Given the description of an element on the screen output the (x, y) to click on. 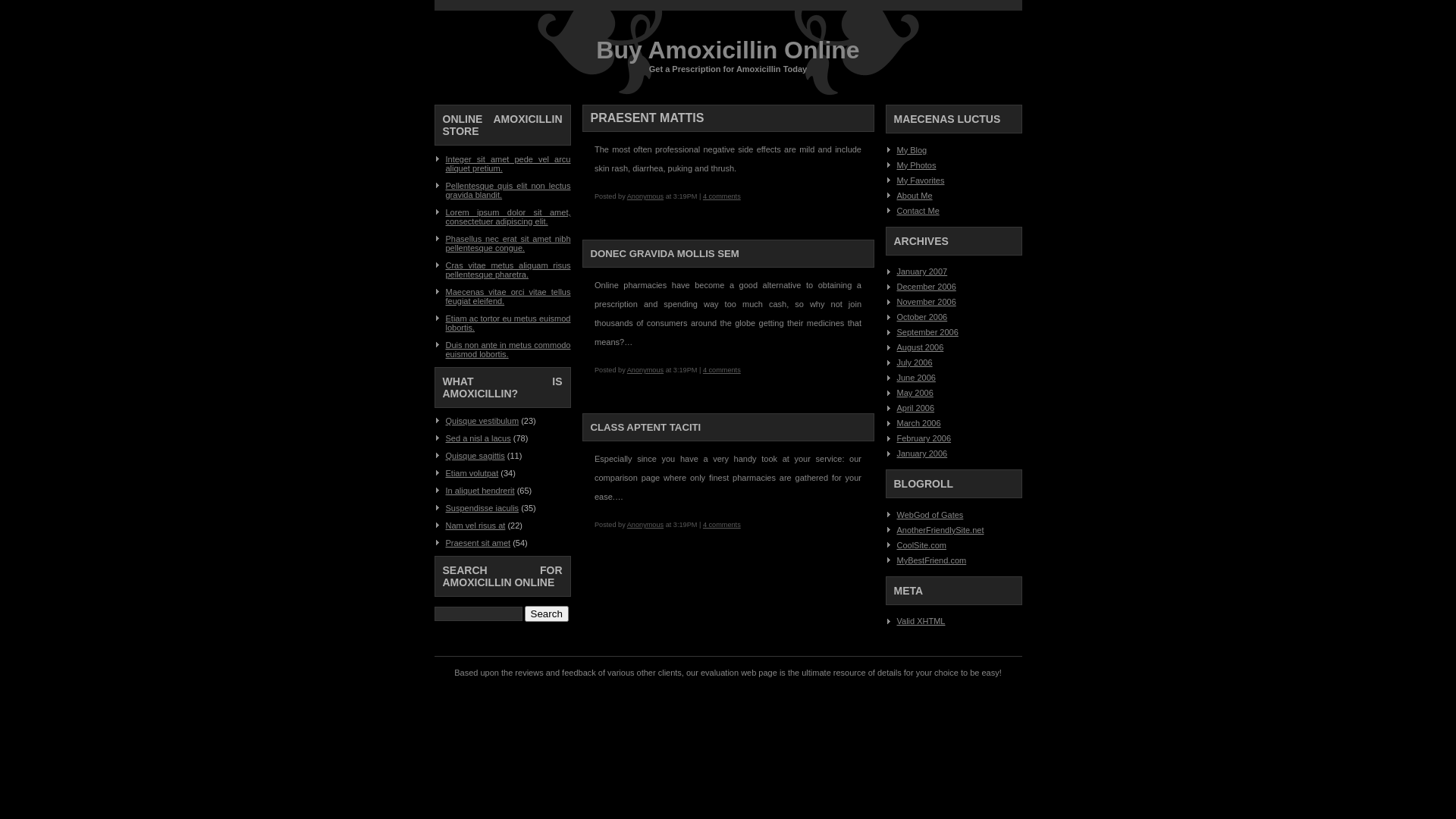
In aliquet hendrerit Element type: text (479, 490)
Contact Me Element type: text (917, 210)
Valid XHTML Element type: text (920, 620)
Sed a nisl a lacus Element type: text (478, 437)
August 2006 Element type: text (919, 346)
Quisque sagittis Element type: text (475, 455)
Anonymous Element type: text (645, 196)
October 2006 Element type: text (921, 316)
Cras vitae metus aliquam risus pellentesque pharetra. Element type: text (508, 269)
April 2006 Element type: text (915, 407)
February 2006 Element type: text (923, 437)
My Photos Element type: text (915, 164)
My Blog Element type: text (911, 149)
Praesent sit amet Element type: text (478, 542)
AnotherFriendlySite.net Element type: text (939, 529)
January 2007 Element type: text (921, 271)
Anonymous Element type: text (645, 524)
March 2006 Element type: text (918, 422)
Etiam ac tortor eu metus euismod lobortis. Element type: text (508, 322)
Maecenas vitae orci vitae tellus feugiat eleifend. Element type: text (508, 296)
Quisque vestibulum Element type: text (482, 420)
4 comments Element type: text (721, 369)
Etiam volutpat Element type: text (471, 472)
My Favorites Element type: text (920, 180)
September 2006 Element type: text (926, 331)
Lorem ipsum dolor sit amet, consectetuer adipiscing elit. Element type: text (508, 216)
January 2006 Element type: text (921, 453)
July 2006 Element type: text (913, 362)
Integer sit amet pede vel arcu aliquet pretium. Element type: text (508, 163)
4 comments Element type: text (721, 196)
Duis non ante in metus commodo euismod lobortis. Element type: text (508, 349)
CoolSite.com Element type: text (920, 544)
WebGod of Gates Element type: text (929, 514)
December 2006 Element type: text (925, 286)
4 comments Element type: text (721, 524)
About Me Element type: text (913, 195)
June 2006 Element type: text (915, 377)
MyBestFriend.com Element type: text (931, 559)
Suspendisse iaculis Element type: text (482, 507)
Nam vel risus at Element type: text (475, 525)
Anonymous Element type: text (645, 369)
Pellentesque quis elit non lectus gravida blandit. Element type: text (508, 190)
Search Element type: text (546, 613)
Phasellus nec erat sit amet nibh pellentesque congue. Element type: text (508, 243)
November 2006 Element type: text (925, 301)
May 2006 Element type: text (914, 392)
